Given the description of an element on the screen output the (x, y) to click on. 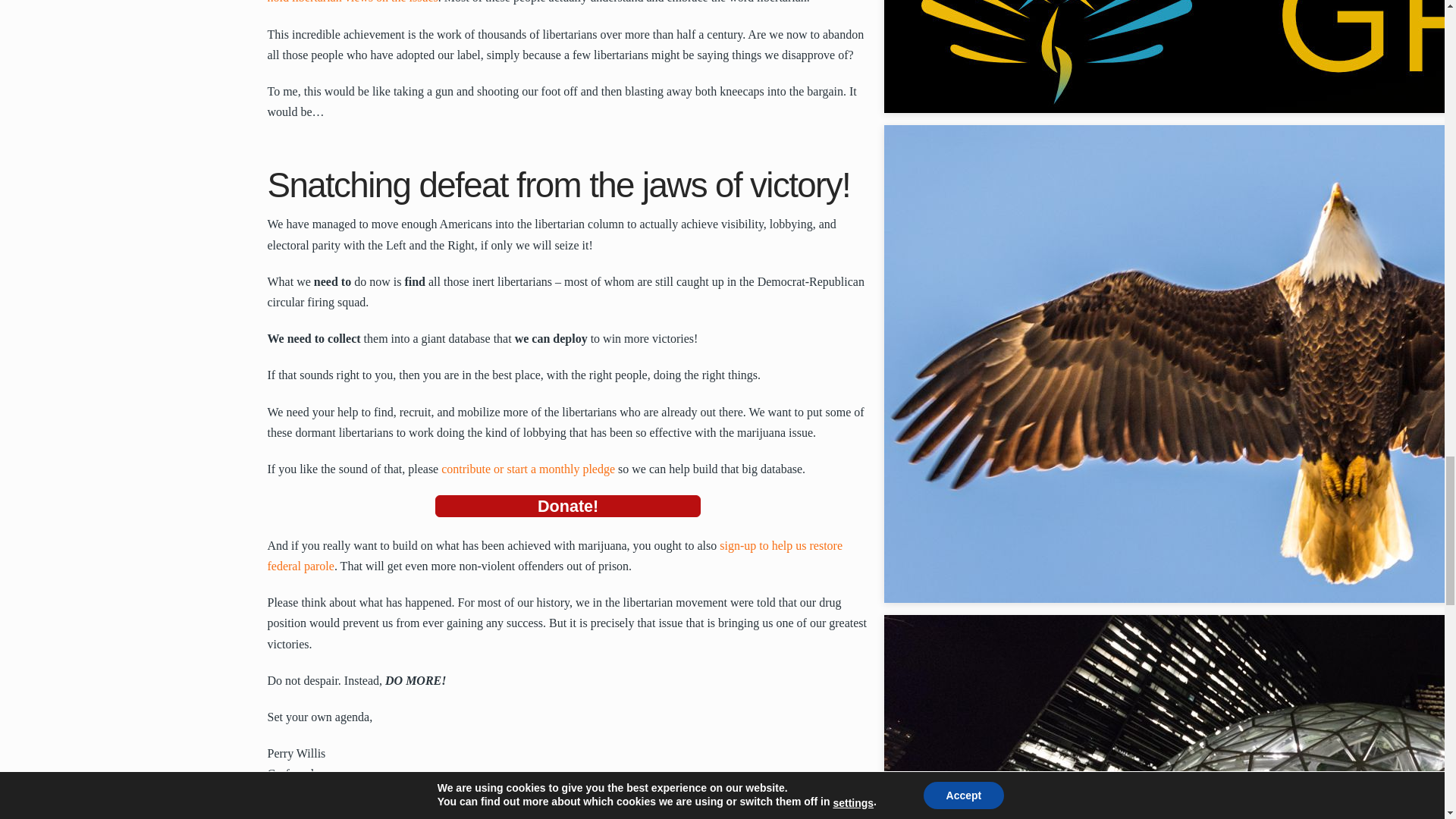
contribute or start a monthly pledge (527, 468)
sign-up to help us restore federal parole (554, 555)
Donate! (567, 505)
